Given the description of an element on the screen output the (x, y) to click on. 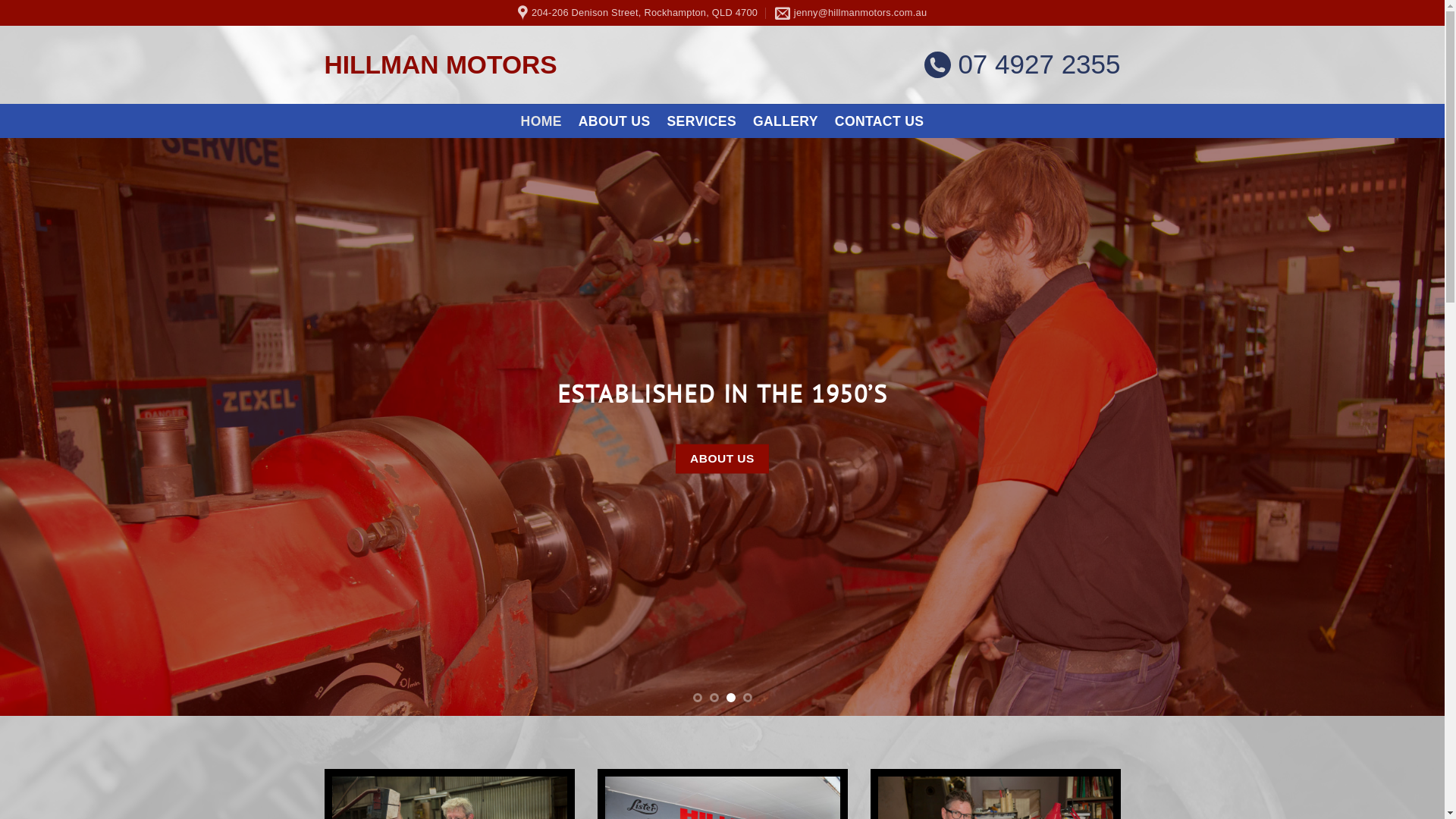
CONTACT US Element type: text (879, 120)
jenny@hillmanmotors.com.au Element type: text (851, 12)
HILLMAN MOTORS Element type: text (498, 65)
GALLERY Element type: text (785, 120)
204-206 Denison Street, Rockhampton, QLD 4700 Element type: text (637, 12)
HOME Element type: text (540, 120)
SERVICES Element type: text (701, 120)
ABOUT US Element type: text (722, 458)
Skip to content Element type: text (0, 0)
ABOUT US Element type: text (614, 120)
07 4927 2355 Element type: text (1022, 63)
